Given the description of an element on the screen output the (x, y) to click on. 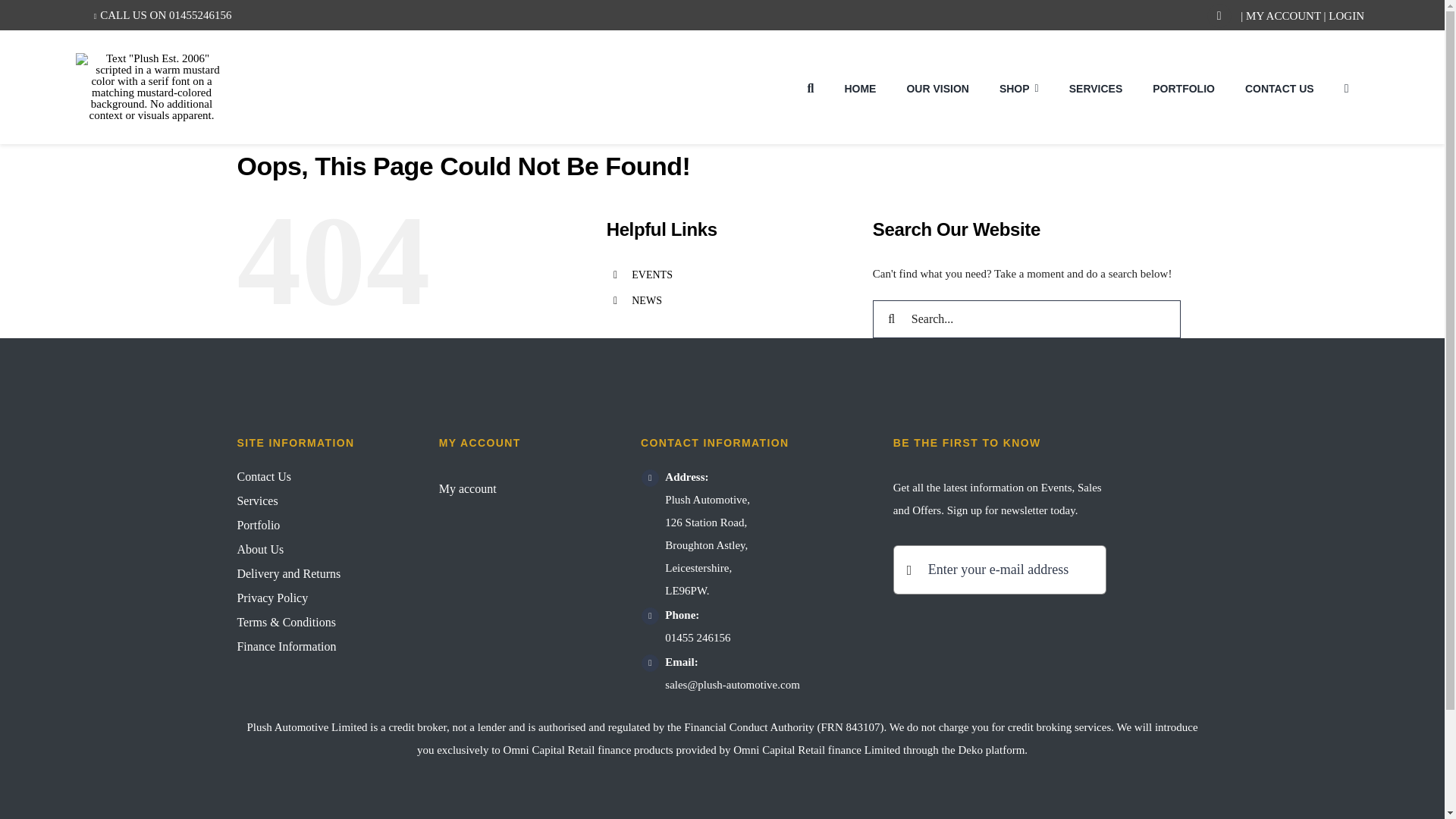
NEWS (646, 300)
LOGIN (1345, 15)
Services (316, 500)
MY ACCOUNT (1283, 15)
About Us (316, 549)
Contact Us (316, 476)
SHOP (1018, 87)
EVENTS (651, 274)
01455246156 (199, 15)
PORTFOLIO (1183, 87)
